Given the description of an element on the screen output the (x, y) to click on. 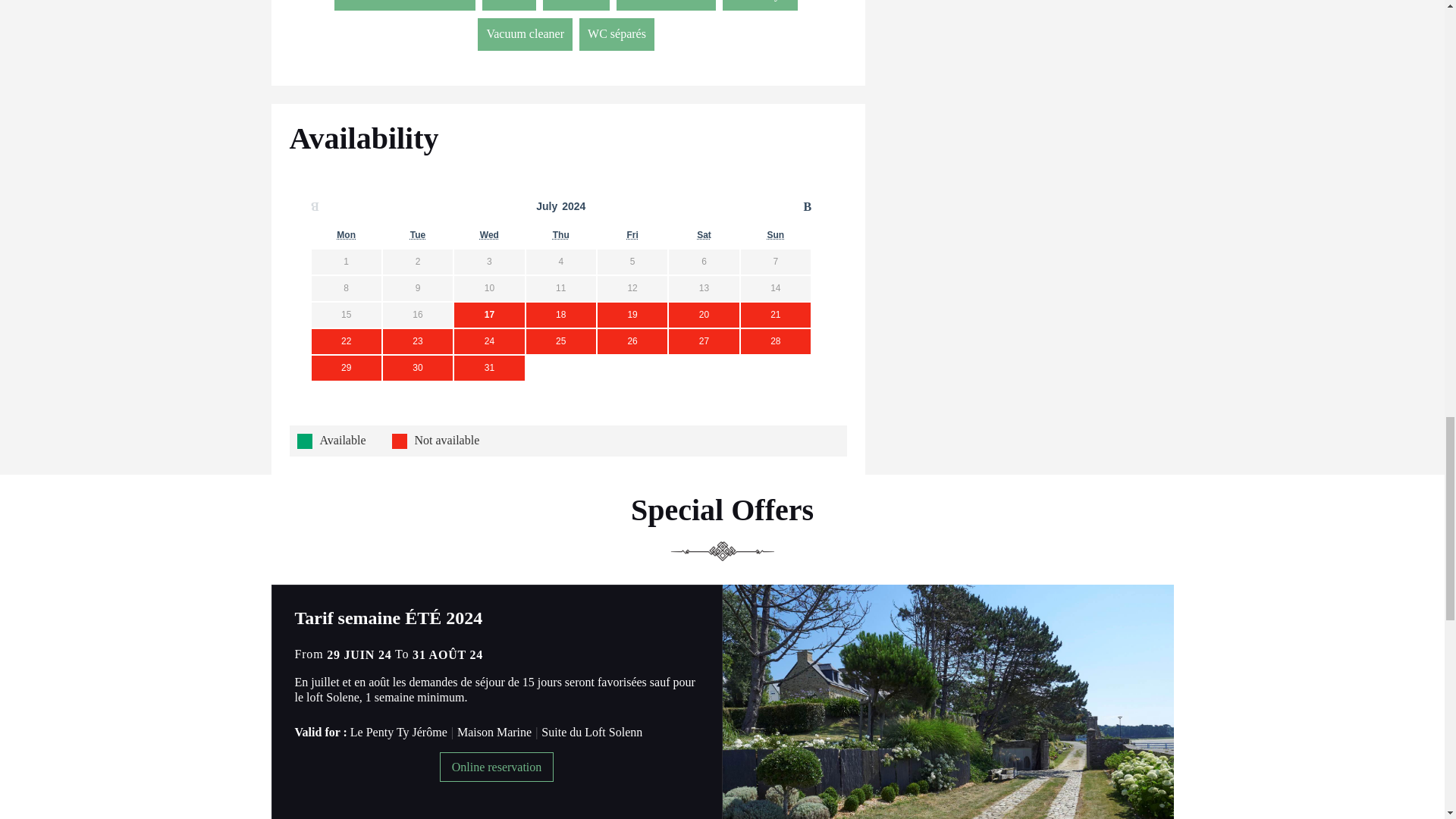
18 (560, 315)
13 (703, 288)
19 (632, 315)
Sunday (775, 235)
10 (488, 288)
12 (632, 288)
3 (488, 261)
4 (560, 261)
6 (703, 261)
Saturday (704, 235)
2 (416, 261)
Monday (345, 235)
Wednesday (489, 235)
1 (346, 261)
Friday (631, 235)
